Given the description of an element on the screen output the (x, y) to click on. 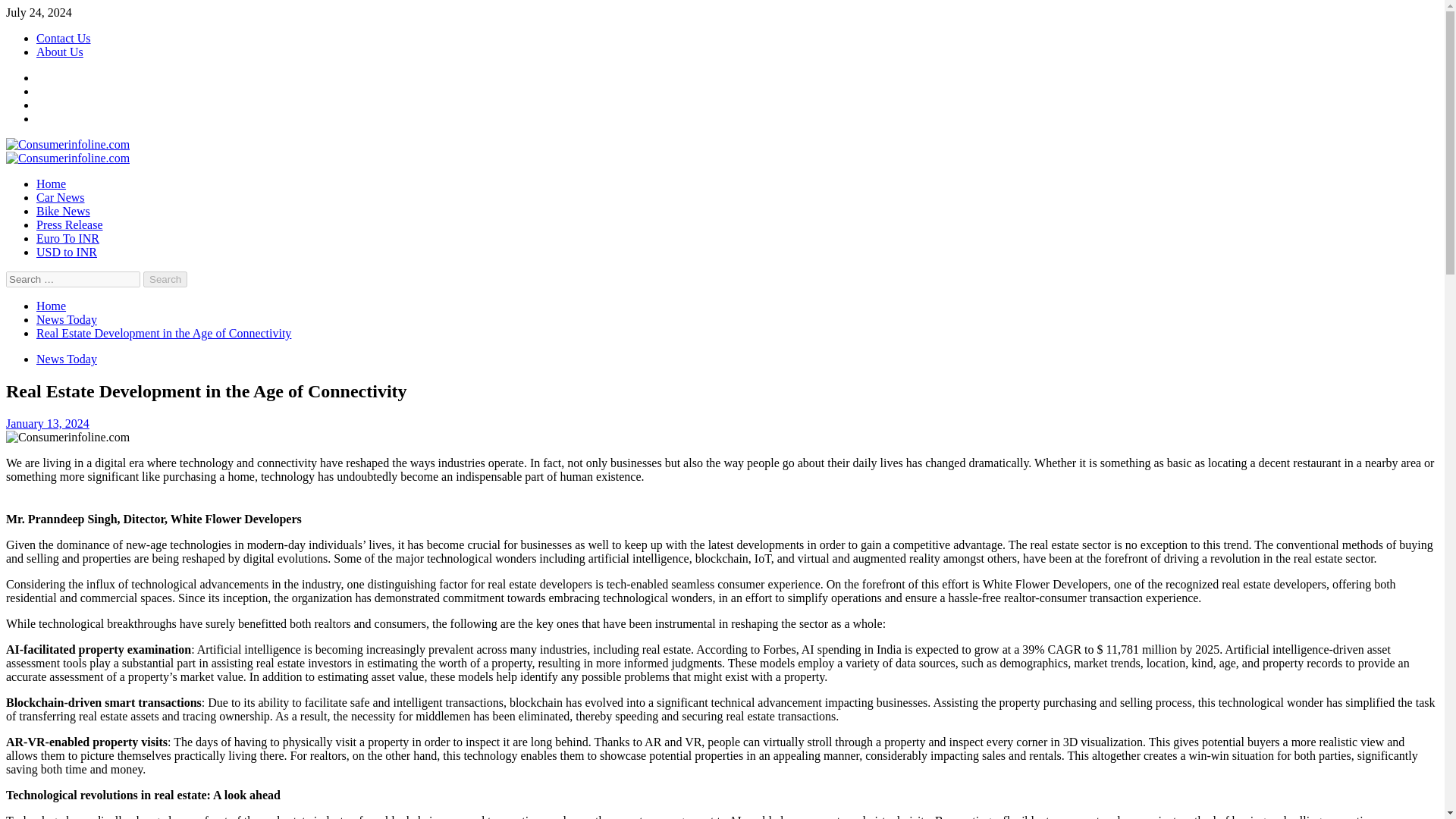
Search (164, 279)
About Us (59, 51)
Car News (60, 196)
Bike News (63, 210)
Contact Us (63, 38)
Home (50, 183)
Euro To INR (67, 237)
January 13, 2024 (46, 422)
Press Release (69, 224)
Search (164, 279)
Real Estate Development in the Age of Connectivity (163, 332)
Home (50, 305)
USD to INR (66, 251)
News Today (66, 358)
